Given the description of an element on the screen output the (x, y) to click on. 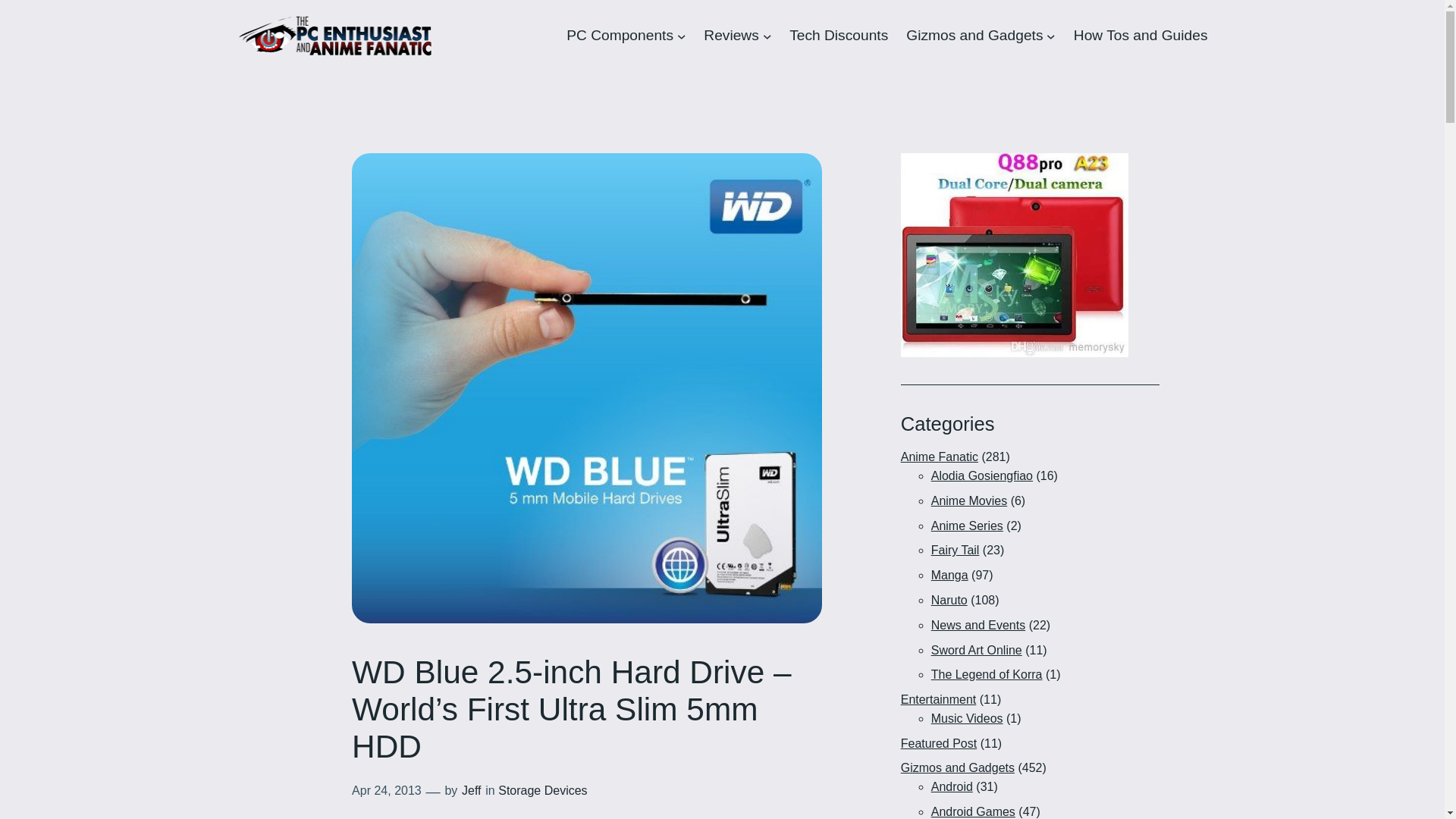
PC Components (619, 35)
Gizmos and Gadgets (973, 35)
Reviews (730, 35)
Tech Discounts (838, 35)
